Given the description of an element on the screen output the (x, y) to click on. 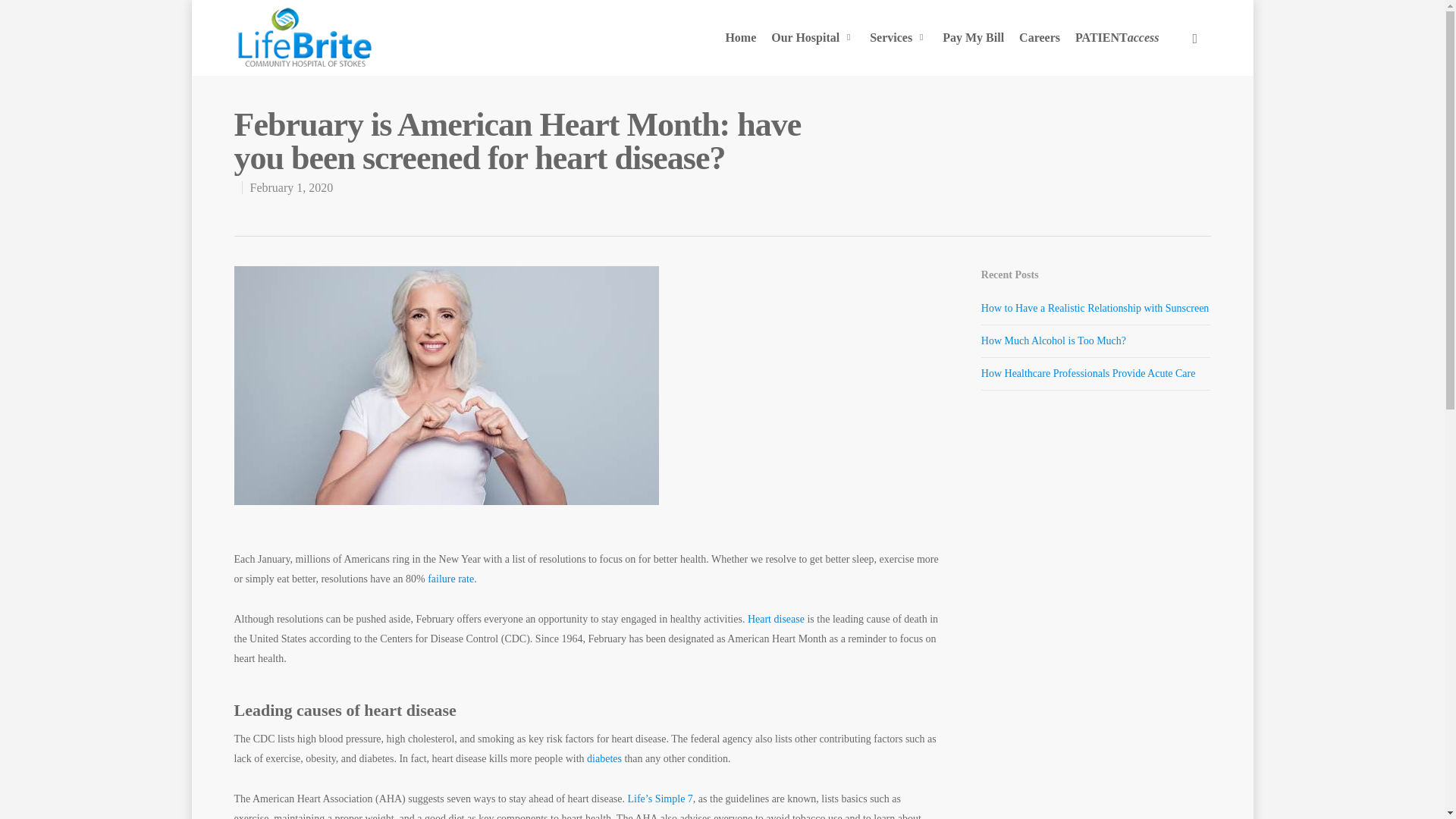
failure rate (449, 578)
Services (897, 37)
How to Have a Realistic Relationship with Sunscreen (1095, 307)
How Healthcare Professionals Provide Acute Care (1088, 373)
Pay My Bill (972, 37)
Careers (1039, 37)
PATIENTaccess (1117, 37)
How Much Alcohol is Too Much? (1053, 340)
diabetes (603, 758)
Heart disease (774, 618)
Our Hospital (811, 37)
Home (739, 37)
